Given the description of an element on the screen output the (x, y) to click on. 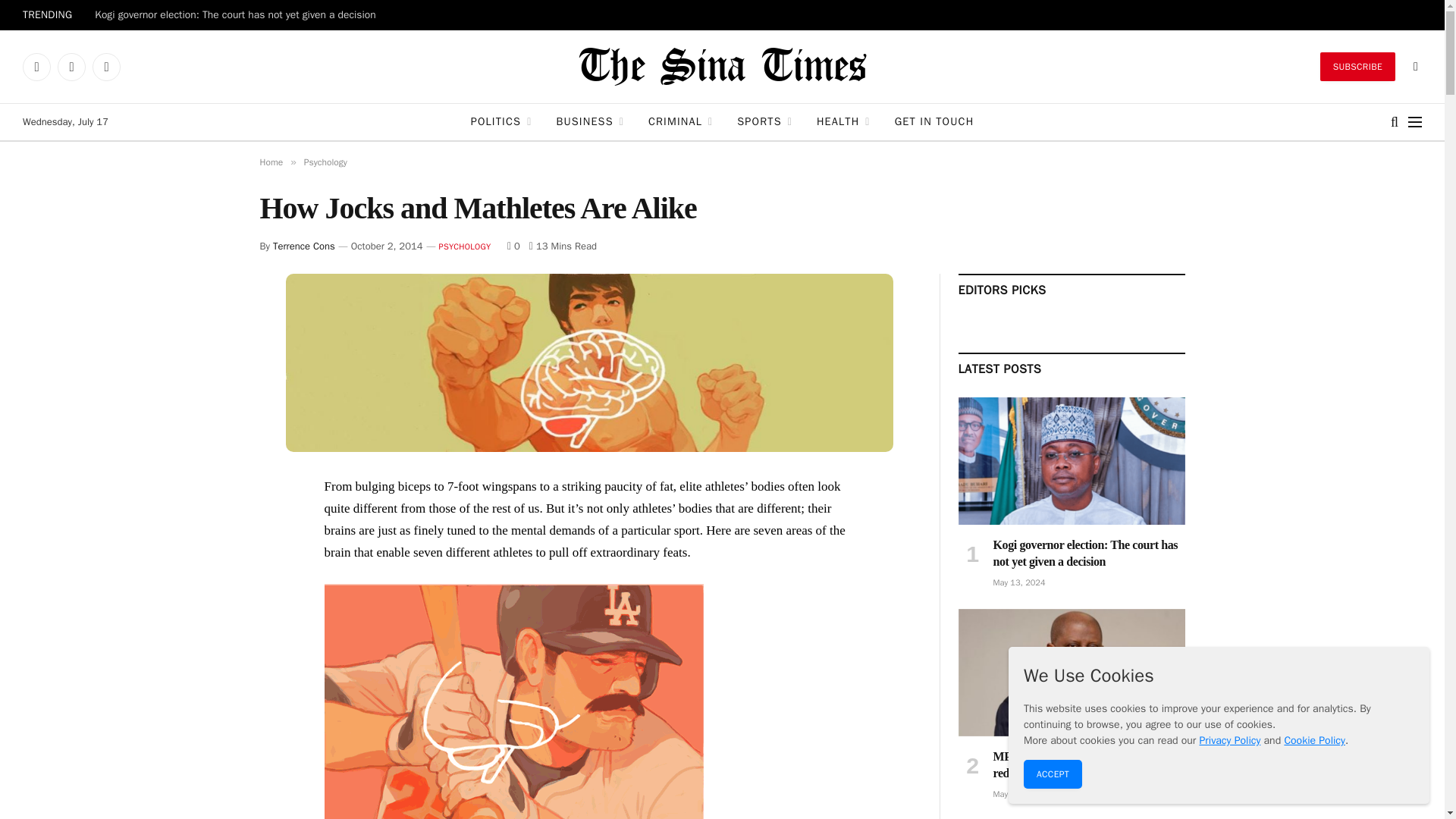
RSS (106, 67)
Switch to Dark Design - easier on eyes. (1414, 66)
BUSINESS (589, 122)
Telegram (71, 67)
POLITICS (501, 122)
SUBSCRIBE (1357, 66)
The Sina Times (722, 66)
